Given the description of an element on the screen output the (x, y) to click on. 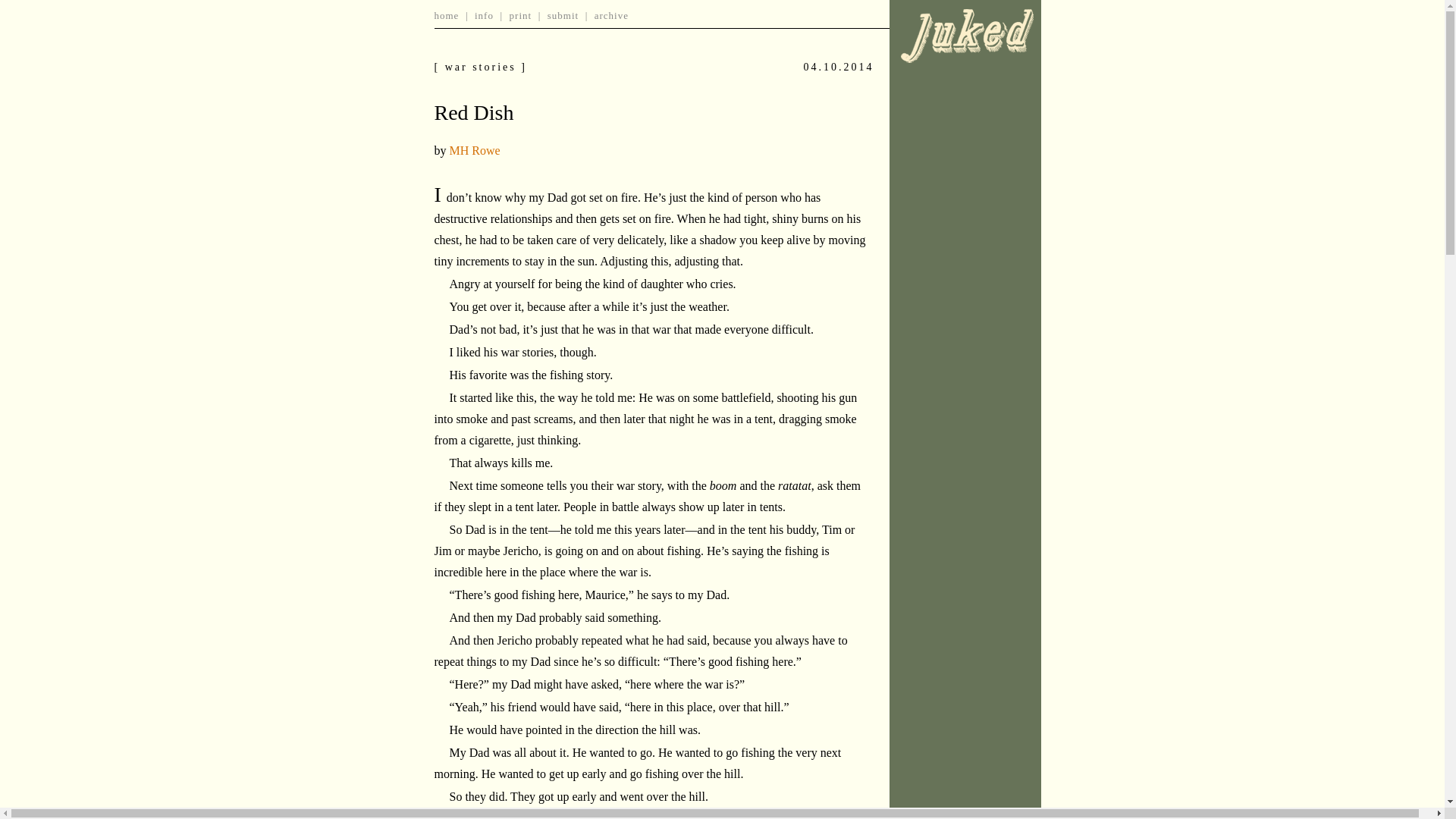
print (520, 15)
archive (611, 15)
info (483, 15)
home (445, 15)
MH Rowe (473, 150)
submit (562, 15)
